Given the description of an element on the screen output the (x, y) to click on. 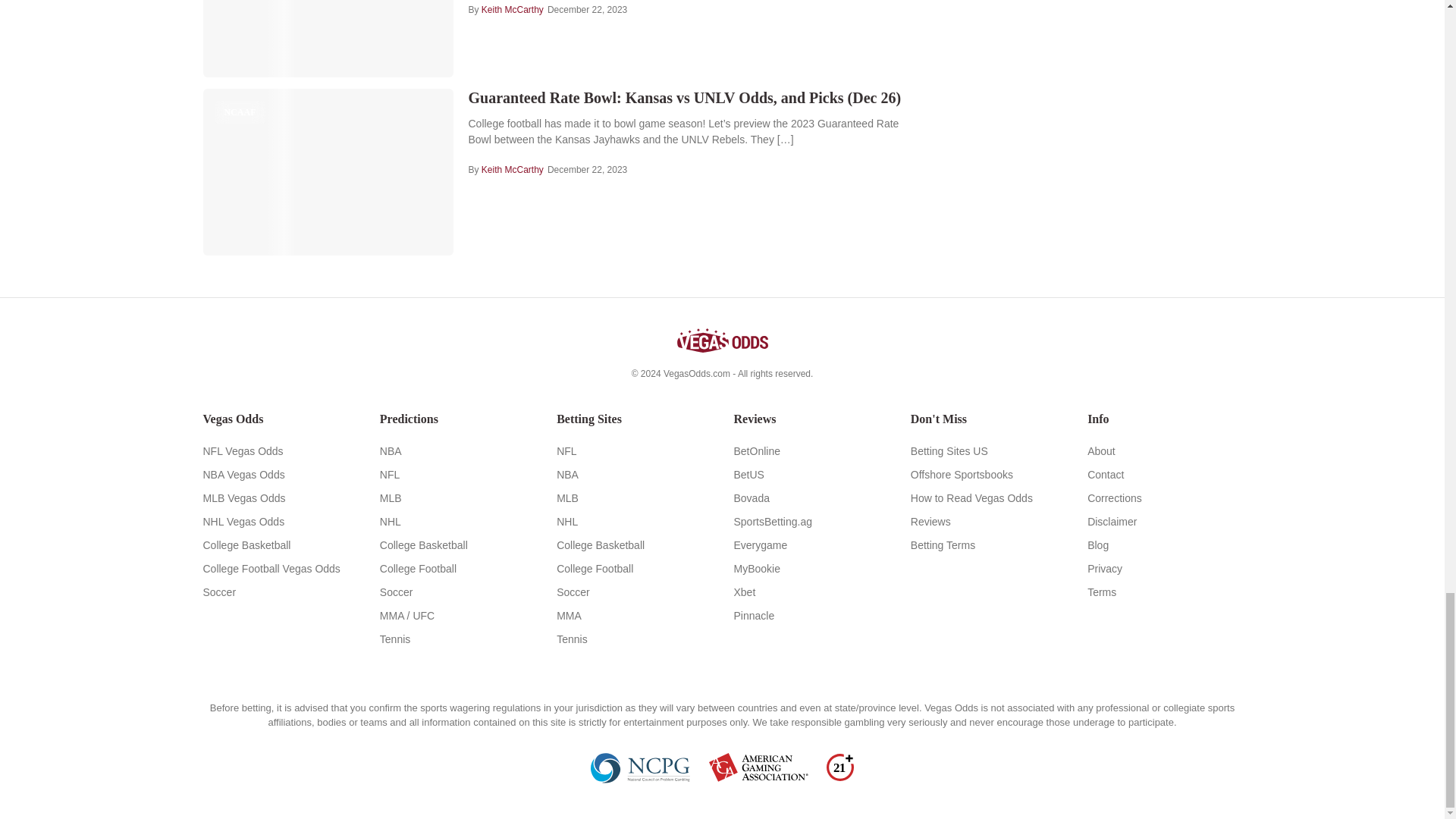
NBA (457, 451)
Soccer (457, 592)
Soccer (279, 592)
College Basketball (279, 545)
NBA Vegas Odds (279, 474)
NHL Vegas Odds (279, 521)
College Basketball (457, 545)
College Football Vegas Odds (279, 568)
Posts by Keith McCarthy (512, 169)
Posts by Keith McCarthy (512, 9)
NFL Vegas Odds (279, 451)
MLB Vegas Odds (279, 498)
NHL (457, 521)
MLB (457, 498)
College Football (457, 568)
